Given the description of an element on the screen output the (x, y) to click on. 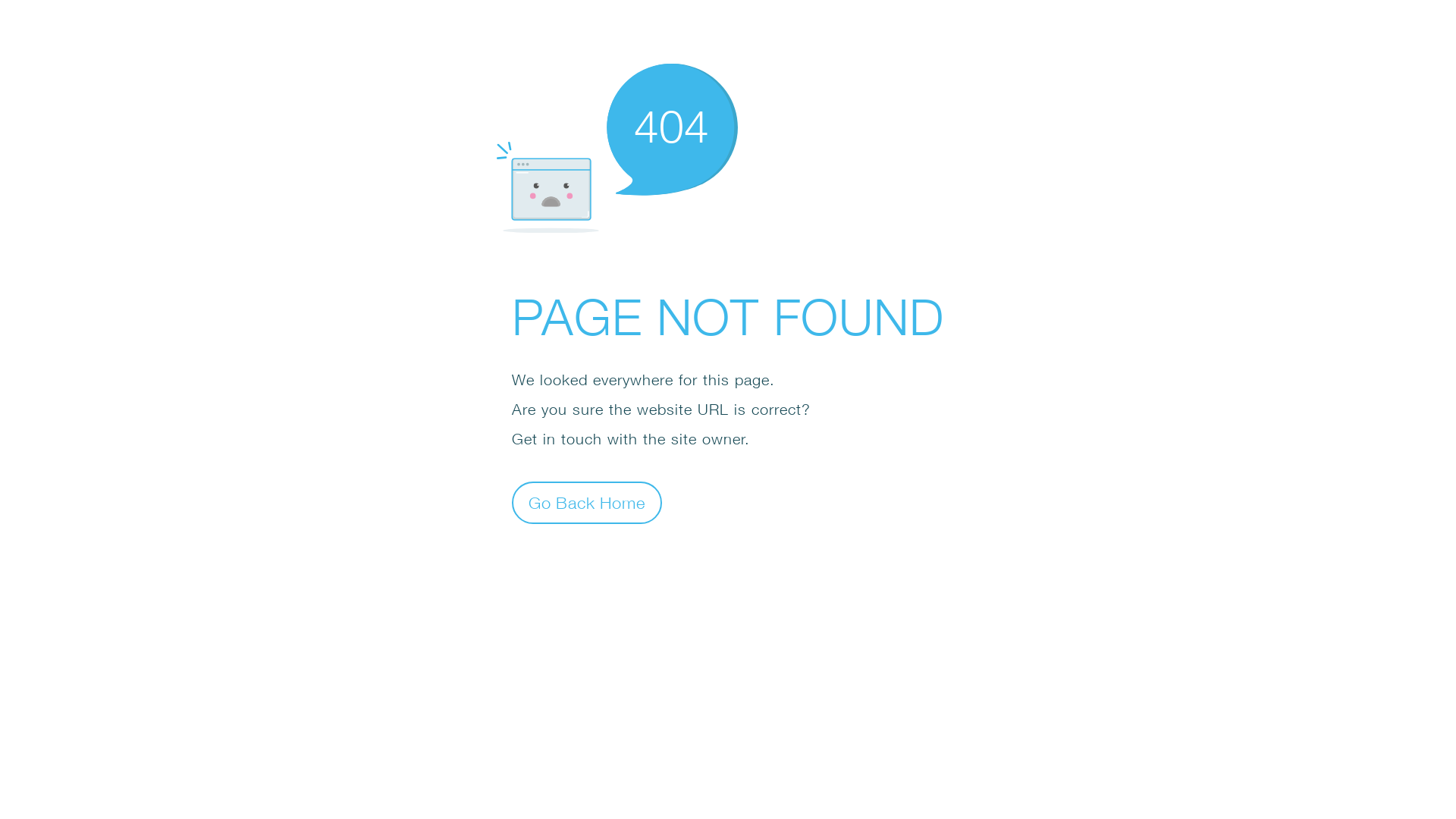
Go Back Home Element type: text (586, 502)
